Given the description of an element on the screen output the (x, y) to click on. 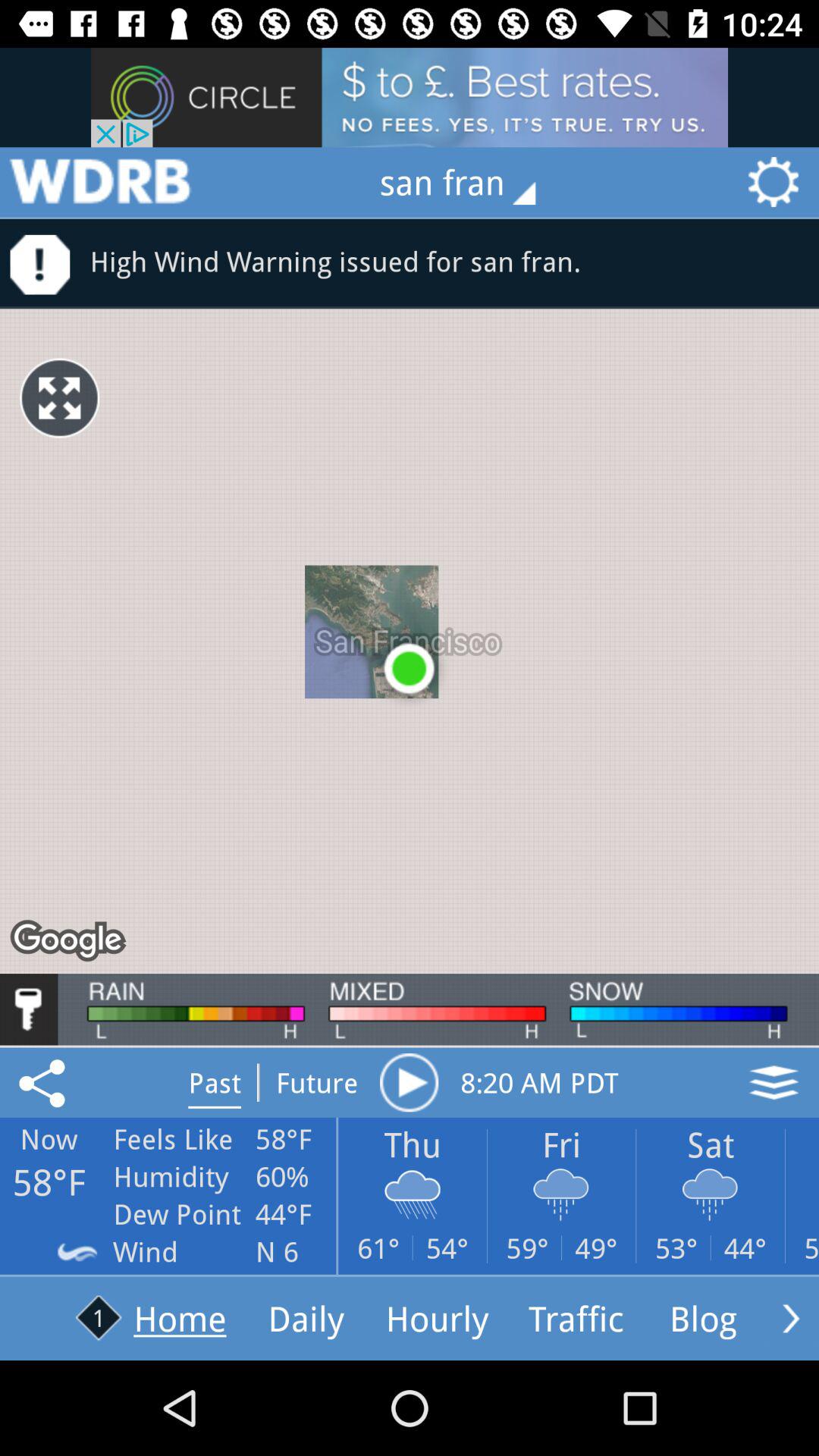
click to play (409, 1082)
